Given the description of an element on the screen output the (x, y) to click on. 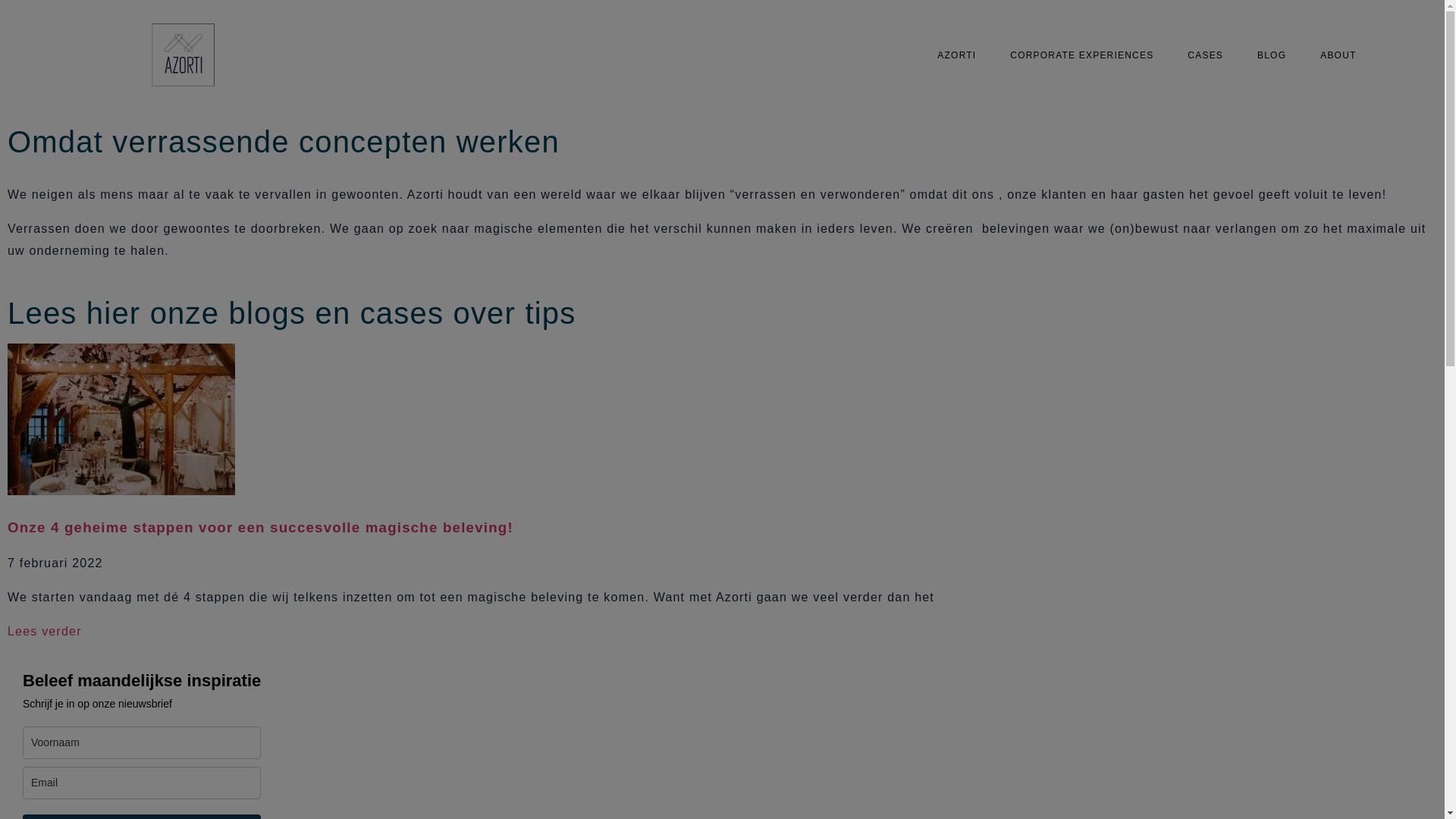
BLOG Element type: text (1271, 54)
AZORTI Element type: text (956, 54)
CORPORATE EXPERIENCES Element type: text (1081, 54)
CASES Element type: text (1205, 54)
ABOUT Element type: text (1338, 54)
Lees verder Element type: text (44, 630)
